Given the description of an element on the screen output the (x, y) to click on. 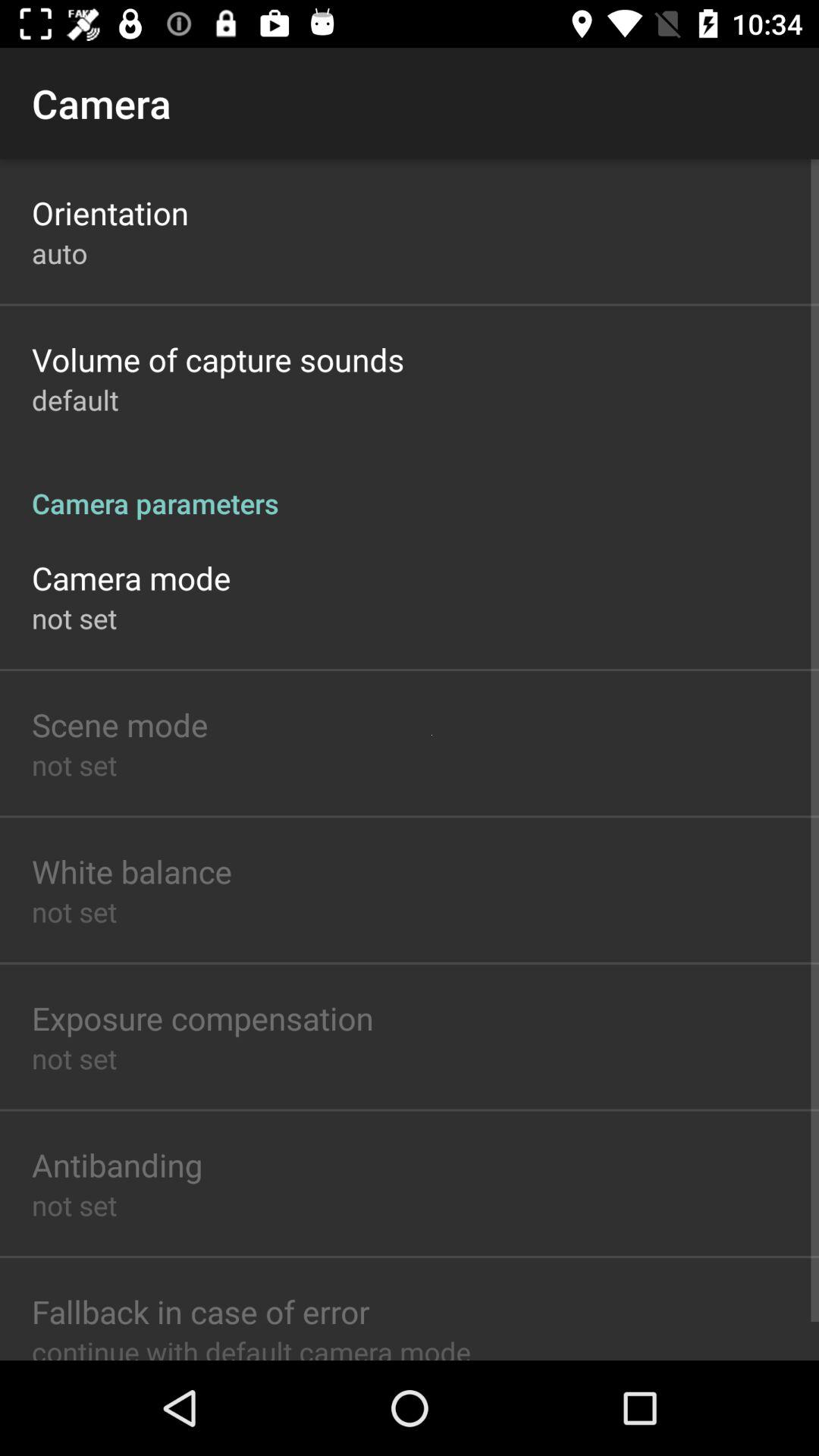
scroll until the volume of capture icon (217, 359)
